Given the description of an element on the screen output the (x, y) to click on. 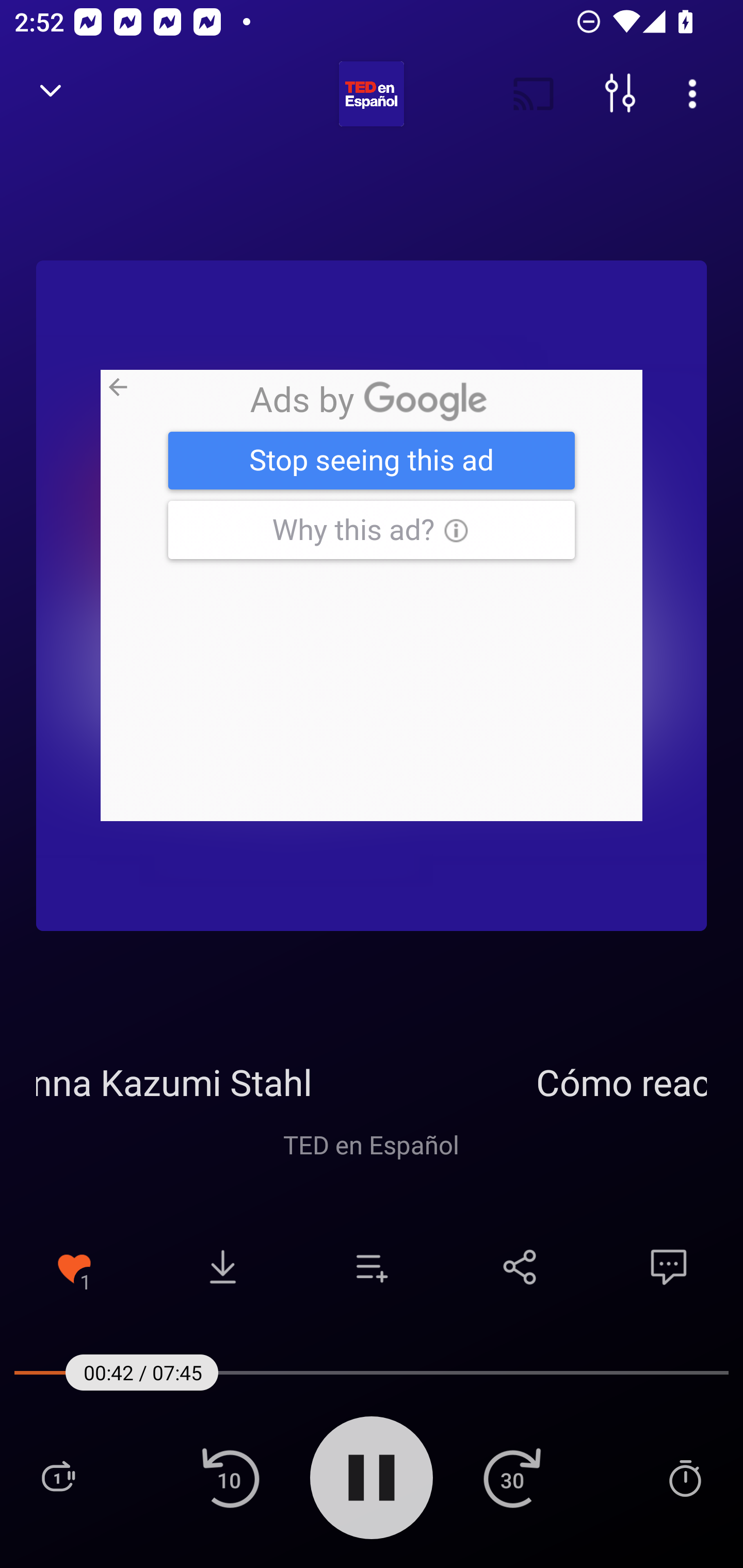
Cast. Disconnected (533, 93)
 Back (50, 94)
ramadan (371, 595)
TED en Español (371, 1144)
Comments (668, 1266)
Remove from Favorites (73, 1266)
Add to playlist (371, 1266)
Share (519, 1266)
 Playlist (57, 1477)
Sleep Timer  (684, 1477)
